Given the description of an element on the screen output the (x, y) to click on. 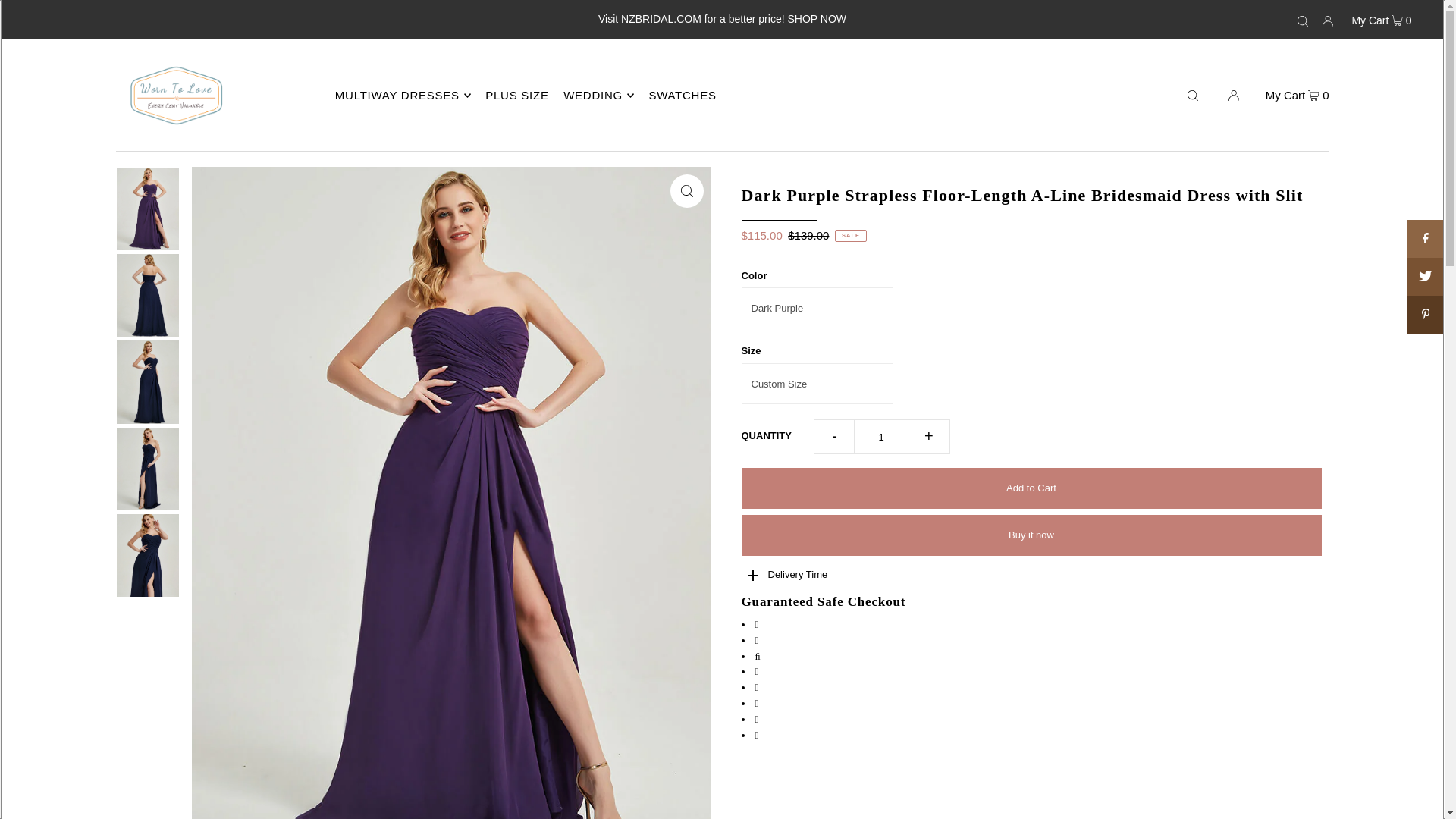
WEDDING (598, 95)
Click to zoom (686, 191)
MULTIWAY DRESSES (402, 95)
Add to Cart (1031, 487)
PLUS SIZE (521, 94)
SWATCHES (686, 94)
SHOP NOW (816, 19)
1 (880, 436)
